Given the description of an element on the screen output the (x, y) to click on. 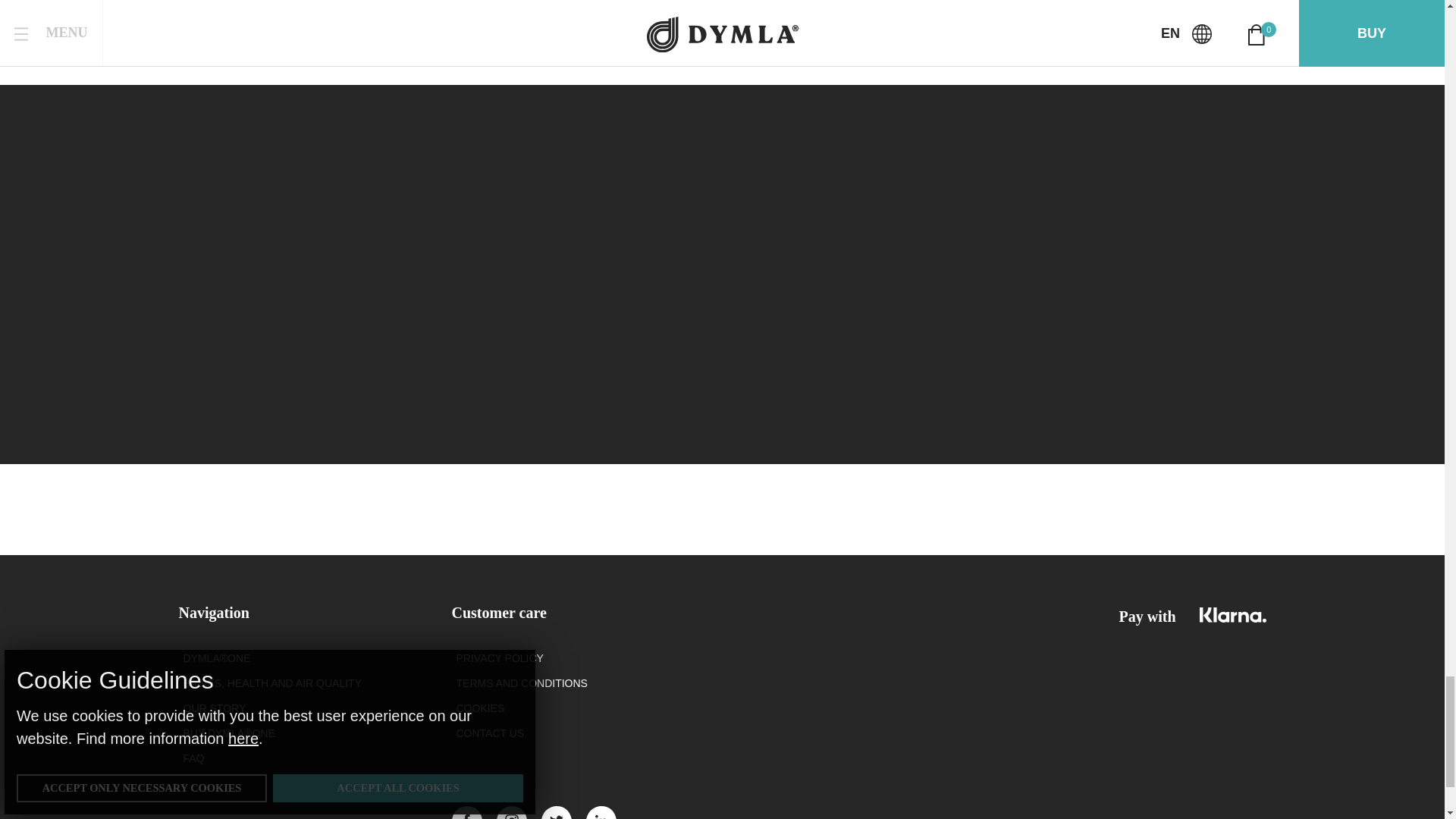
PRIVACY POLICY (500, 658)
BABIES, HEALTH AND AIR QUALITY (272, 683)
OUR STORY (214, 708)
CONTACT US (490, 733)
COOKIES (481, 708)
TERMS AND CONDITIONS (522, 683)
FAQ (194, 758)
